Given the description of an element on the screen output the (x, y) to click on. 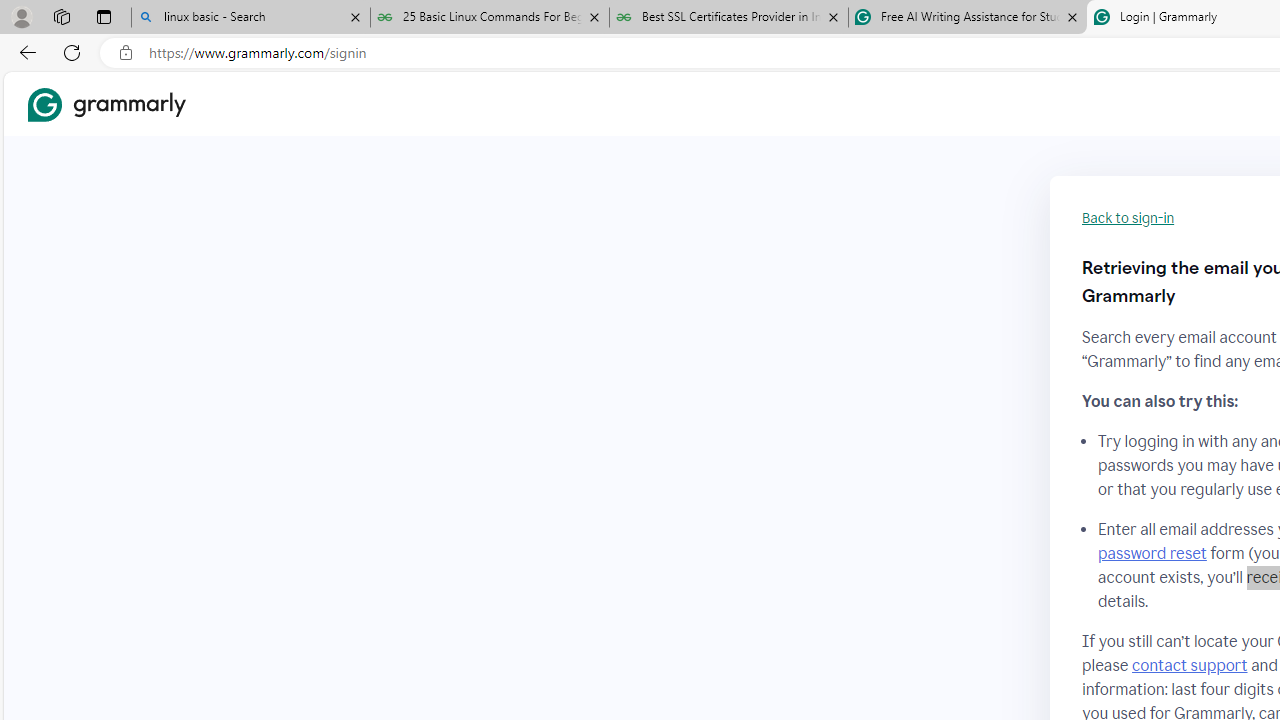
linux basic - Search (250, 17)
Grammarly Home (106, 104)
password reset (1152, 553)
Back to sign-in (1128, 218)
Grammarly Home (106, 103)
